Given the description of an element on the screen output the (x, y) to click on. 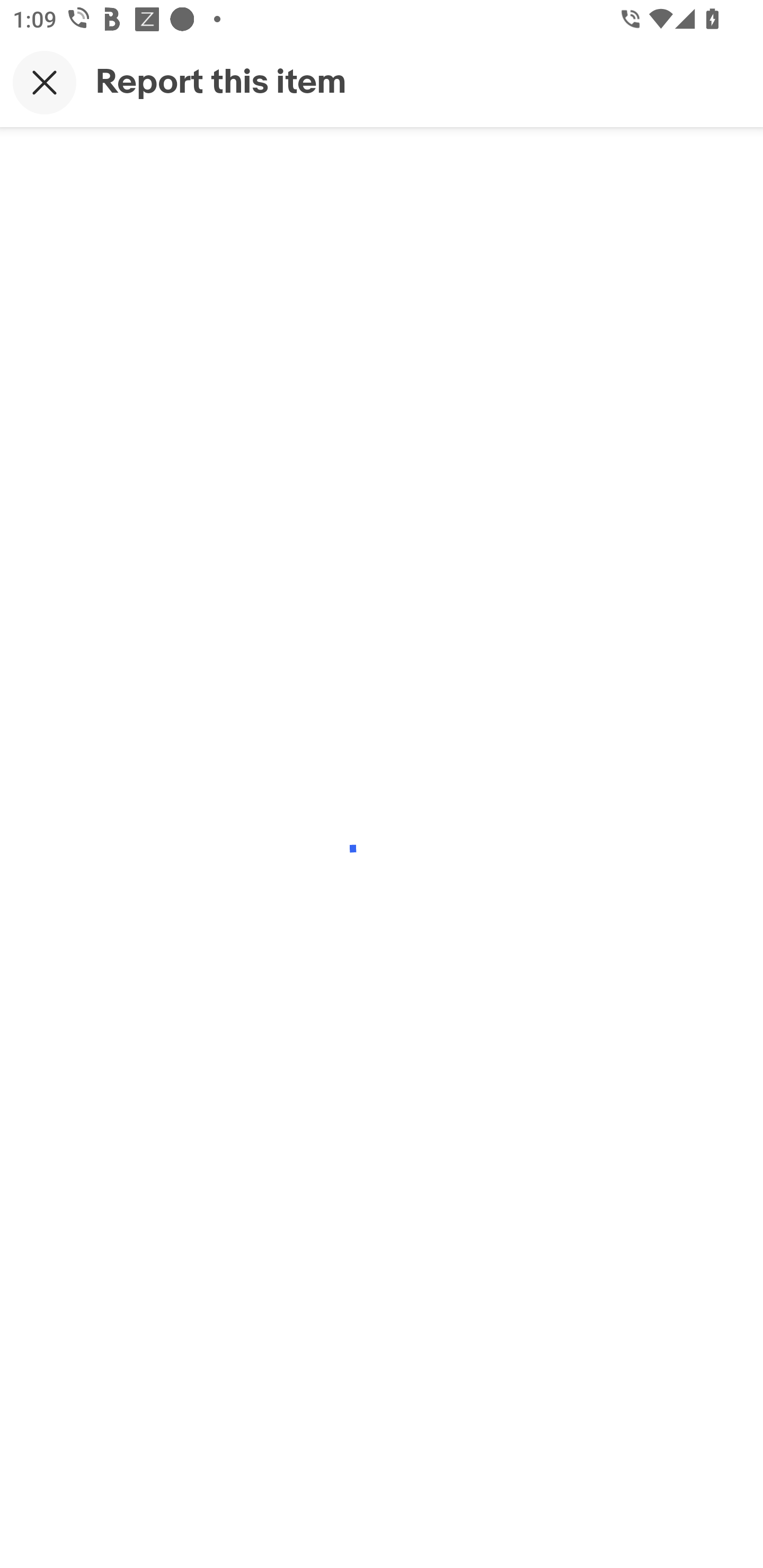
Close (44, 82)
